Given the description of an element on the screen output the (x, y) to click on. 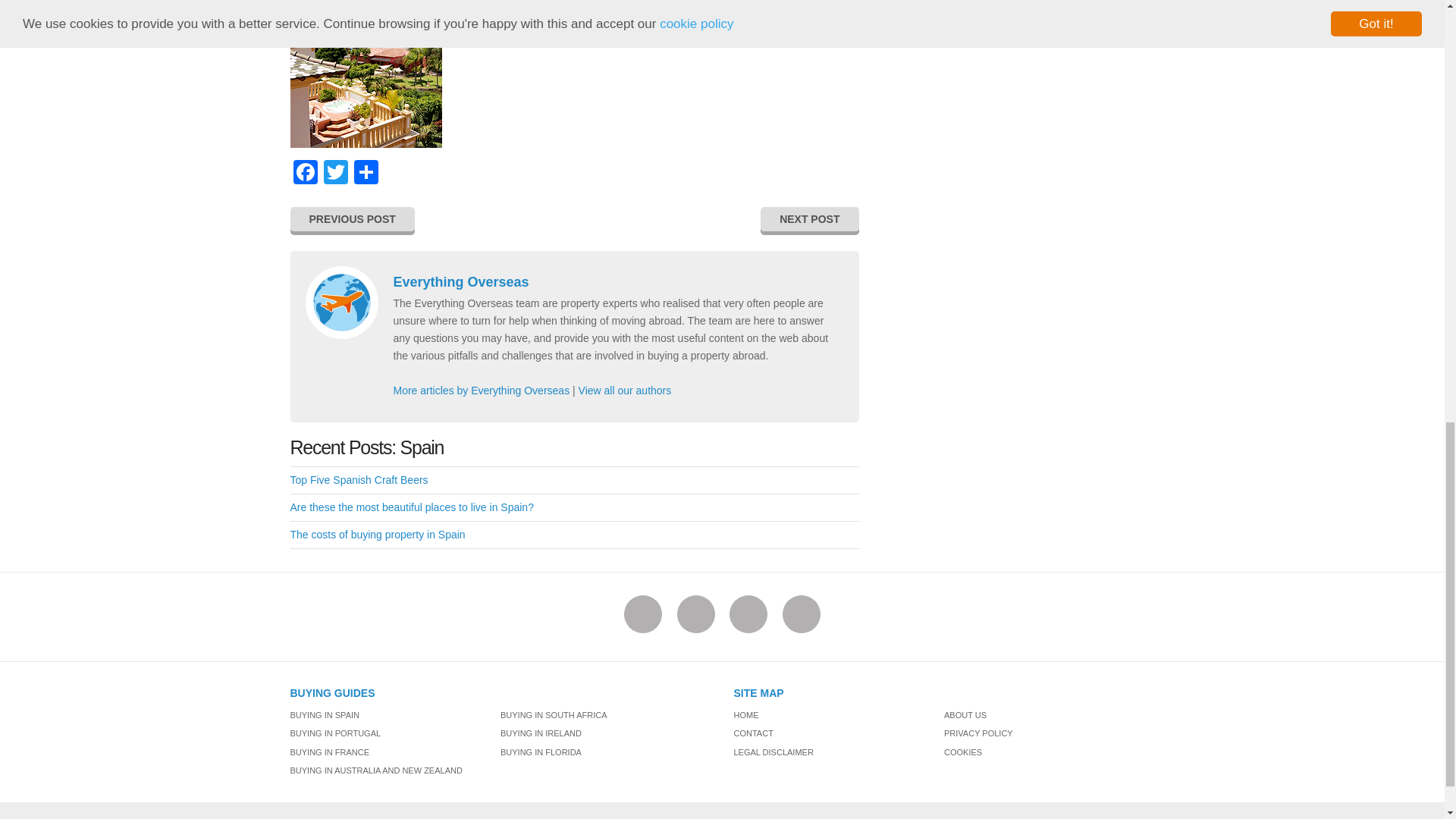
NEXT POST (809, 218)
Share (365, 173)
PREVIOUS POST (351, 218)
Everything Overseas (460, 281)
Facebook (304, 173)
Facebook (304, 173)
Twitter (335, 173)
Twitter (335, 173)
